Given the description of an element on the screen output the (x, y) to click on. 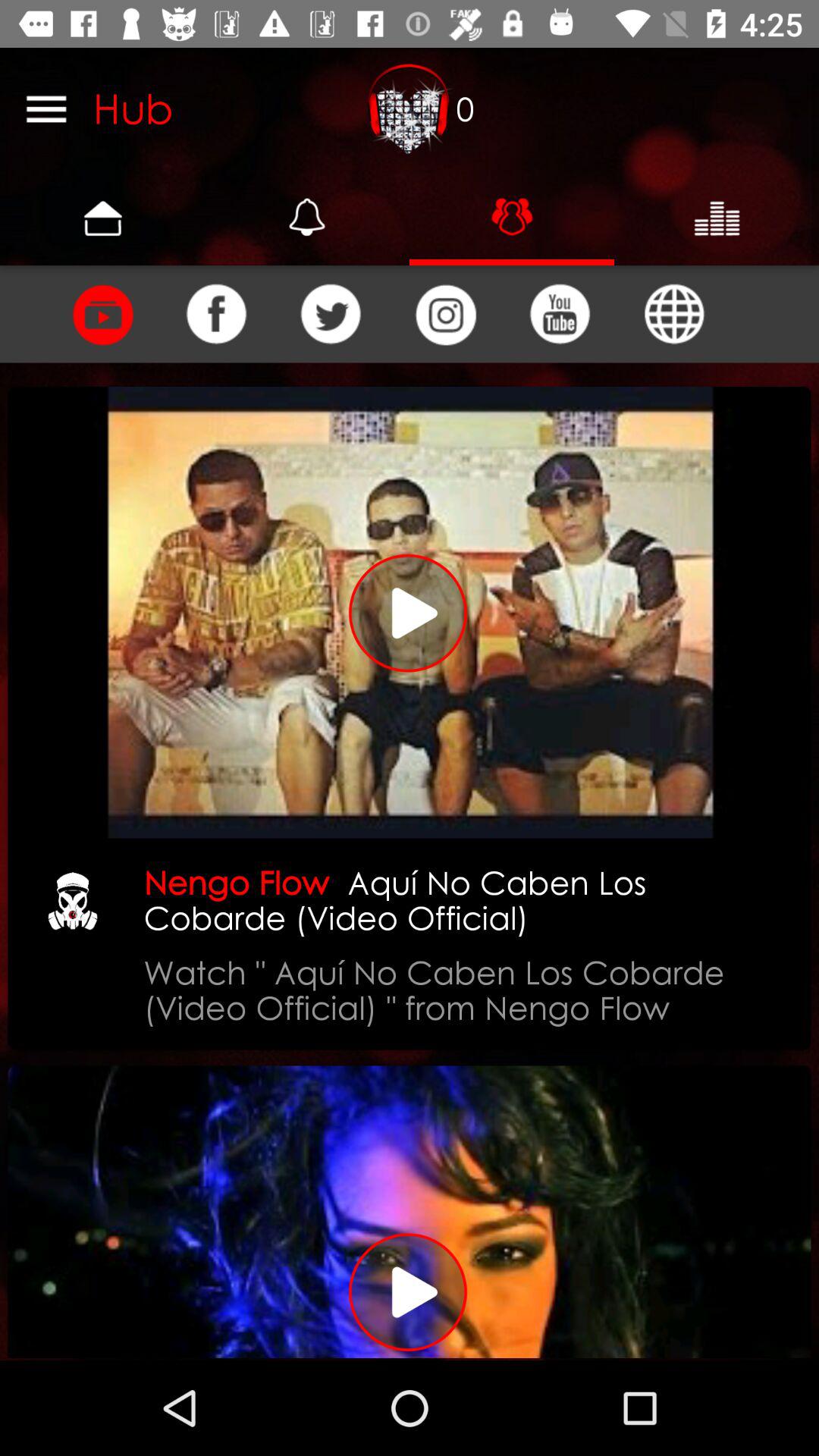
te gustara bailar (101, 313)
